Given the description of an element on the screen output the (x, y) to click on. 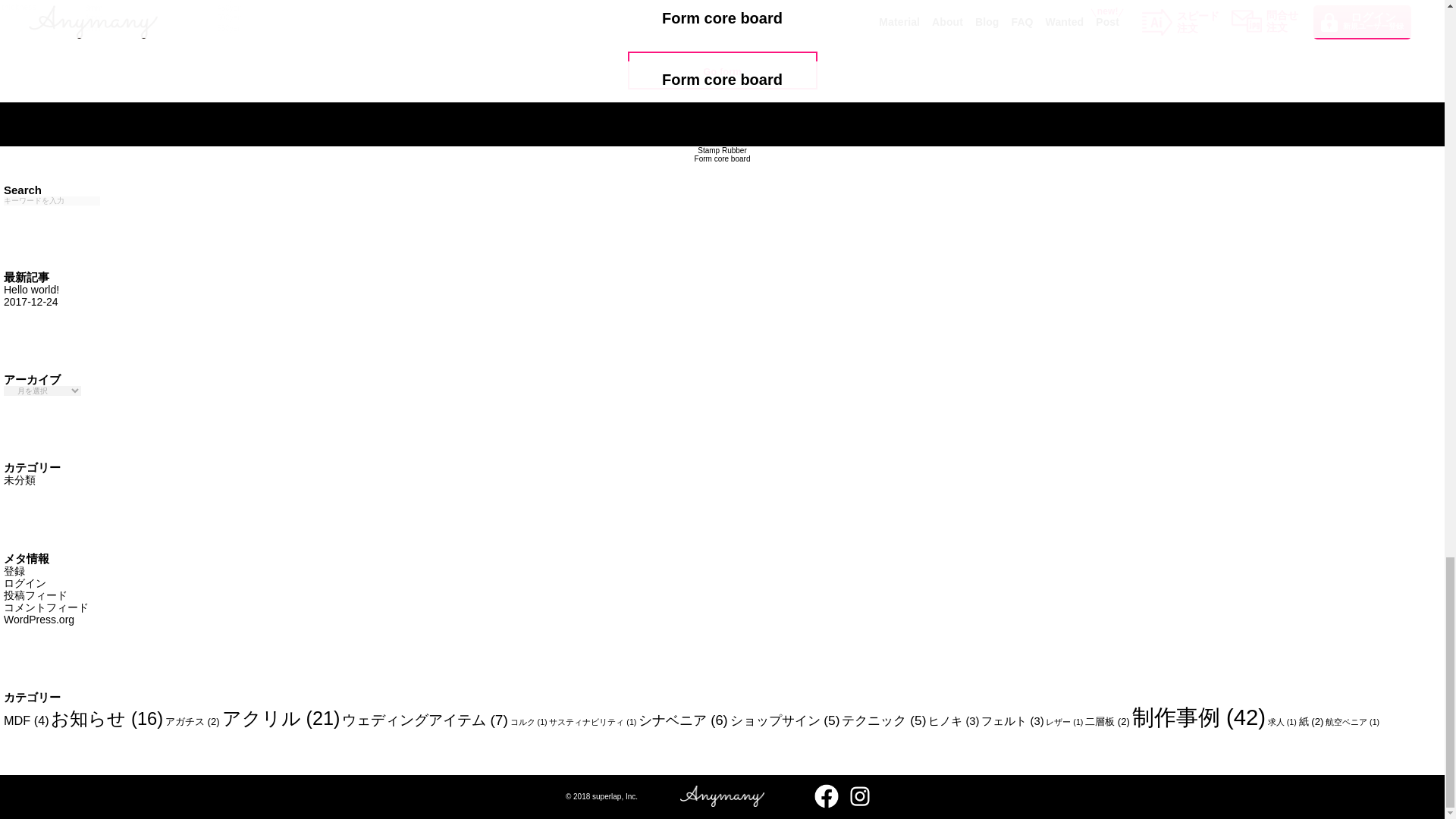
Form core board (31, 295)
Hello world! (722, 158)
Go form (31, 295)
Stamp Rubber (722, 71)
WordPress.org (721, 150)
